Given the description of an element on the screen output the (x, y) to click on. 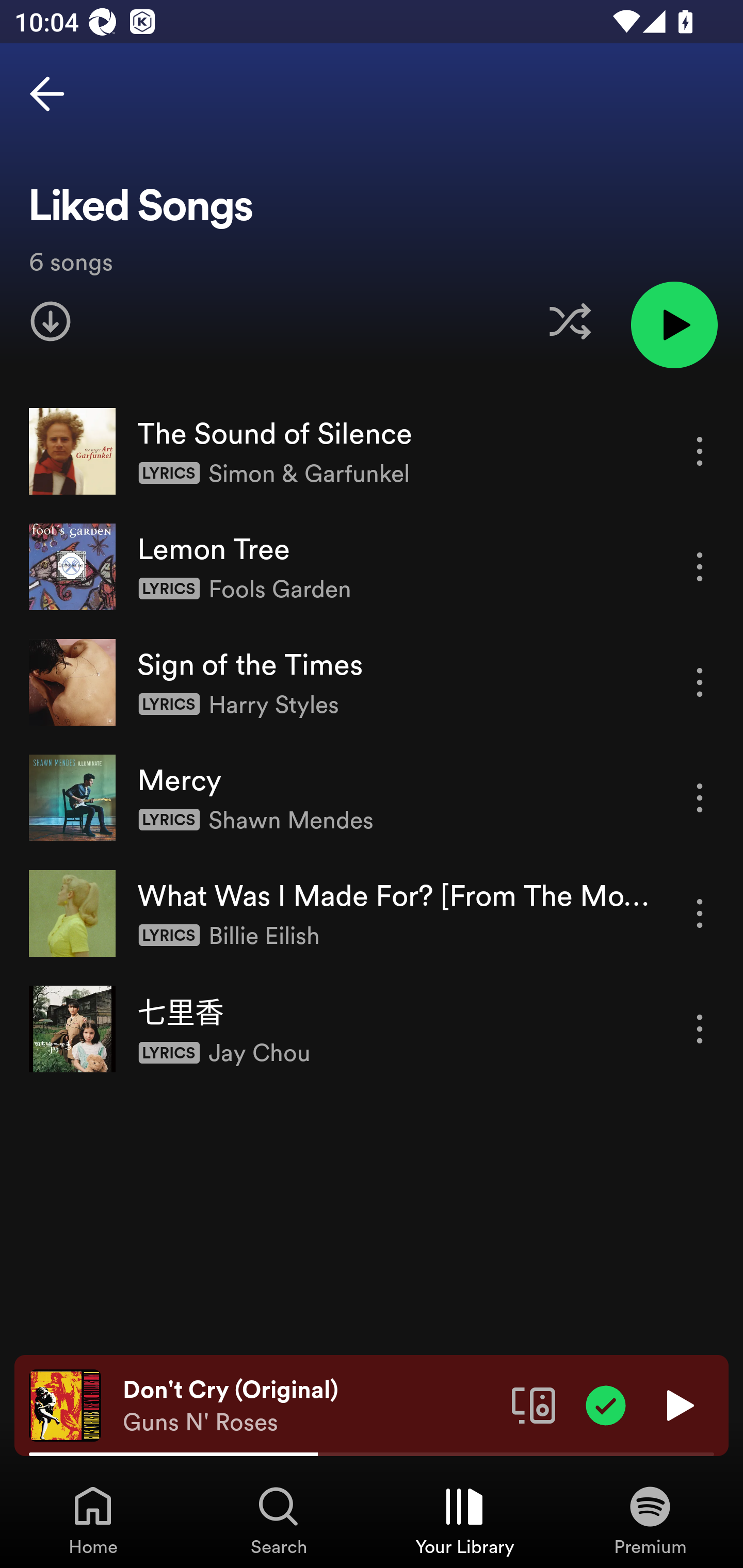
Back (46, 93)
Download (50, 321)
Enable shuffle for this liked songs (569, 321)
Play liked songs (674, 324)
More options for song The Sound of Silence (699, 450)
More options for song Lemon Tree (699, 566)
More options for song Sign of the Times (699, 682)
More options for song Mercy (699, 798)
七里香 More options for song 七里香 Lyrics Jay Chou (371, 1028)
More options for song 七里香 (699, 1029)
Don't Cry (Original) Guns N' Roses (309, 1405)
The cover art of the currently playing track (64, 1404)
Connect to a device. Opens the devices menu (533, 1404)
Item added (605, 1404)
Play (677, 1404)
Home, Tab 1 of 4 Home Home (92, 1519)
Search, Tab 2 of 4 Search Search (278, 1519)
Your Library, Tab 3 of 4 Your Library Your Library (464, 1519)
Premium, Tab 4 of 4 Premium Premium (650, 1519)
